Given the description of an element on the screen output the (x, y) to click on. 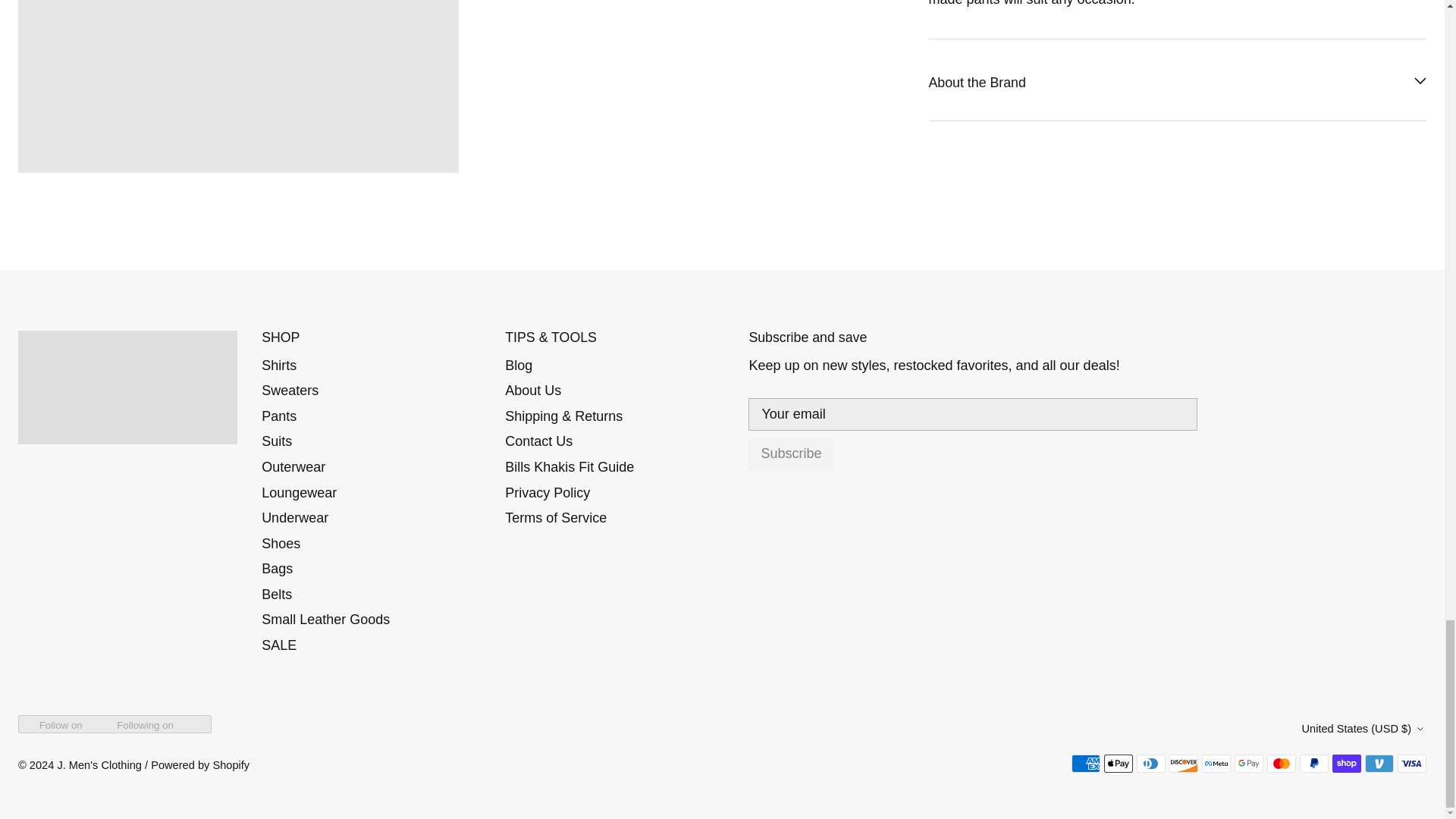
Apple Pay (1117, 763)
Shop Pay (1346, 763)
Venmo (1379, 763)
Mastercard (1280, 763)
Meta Pay (1216, 763)
American Express (1085, 763)
PayPal (1313, 763)
Discover (1183, 763)
Google Pay (1248, 763)
Visa (1411, 763)
Diners Club (1151, 763)
